Given the description of an element on the screen output the (x, y) to click on. 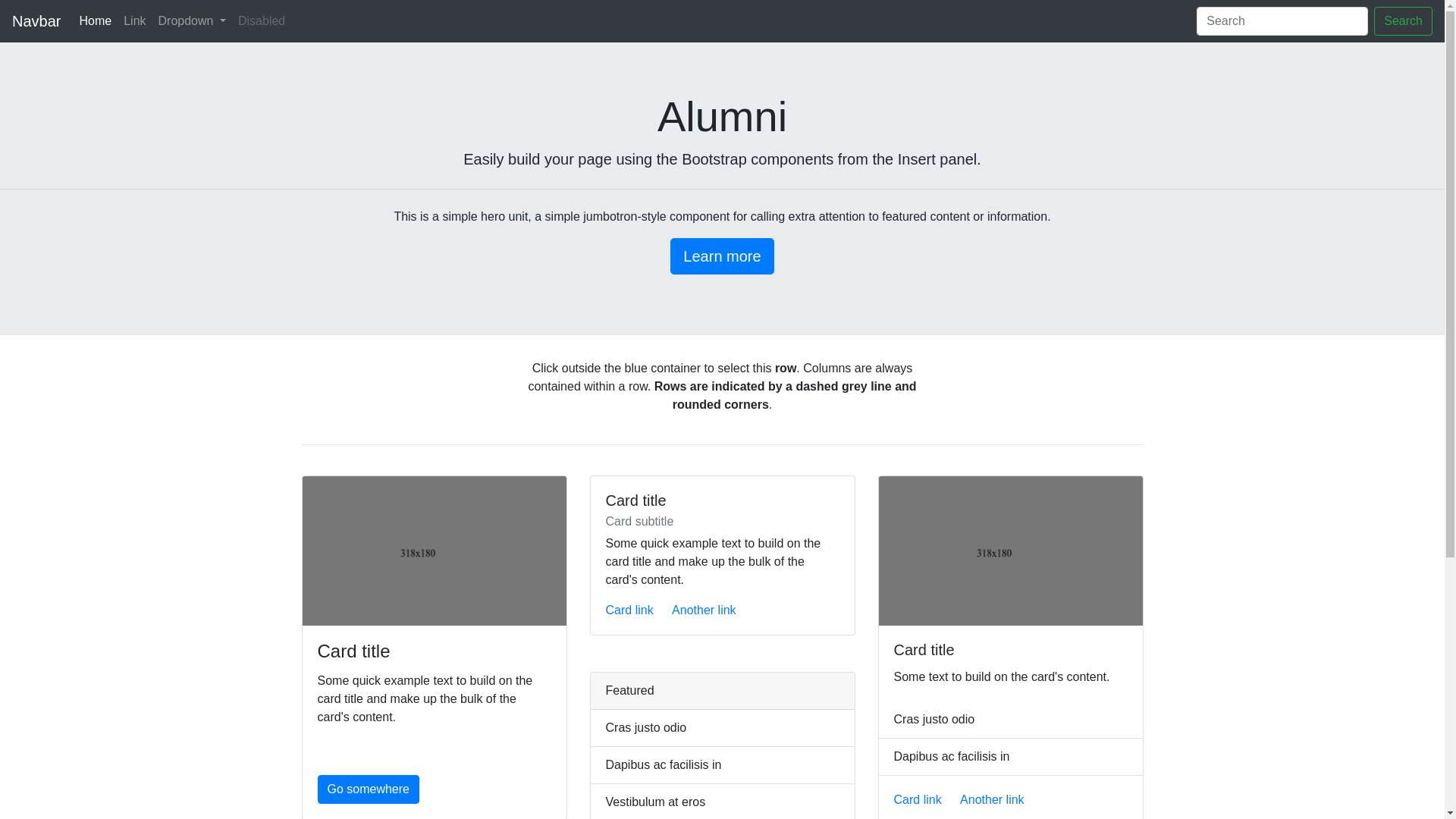
Learn more Element type: text (721, 256)
Card link Element type: text (628, 609)
Go somewhere Element type: text (367, 789)
Another link Element type: text (703, 609)
Disabled Element type: text (261, 21)
Dropdown Element type: text (192, 21)
Navbar Element type: text (36, 21)
Card link Element type: text (917, 799)
Search Element type: text (1403, 20)
Home
(current) Element type: text (94, 21)
Link Element type: text (134, 21)
Another link Element type: text (992, 799)
